Given the description of an element on the screen output the (x, y) to click on. 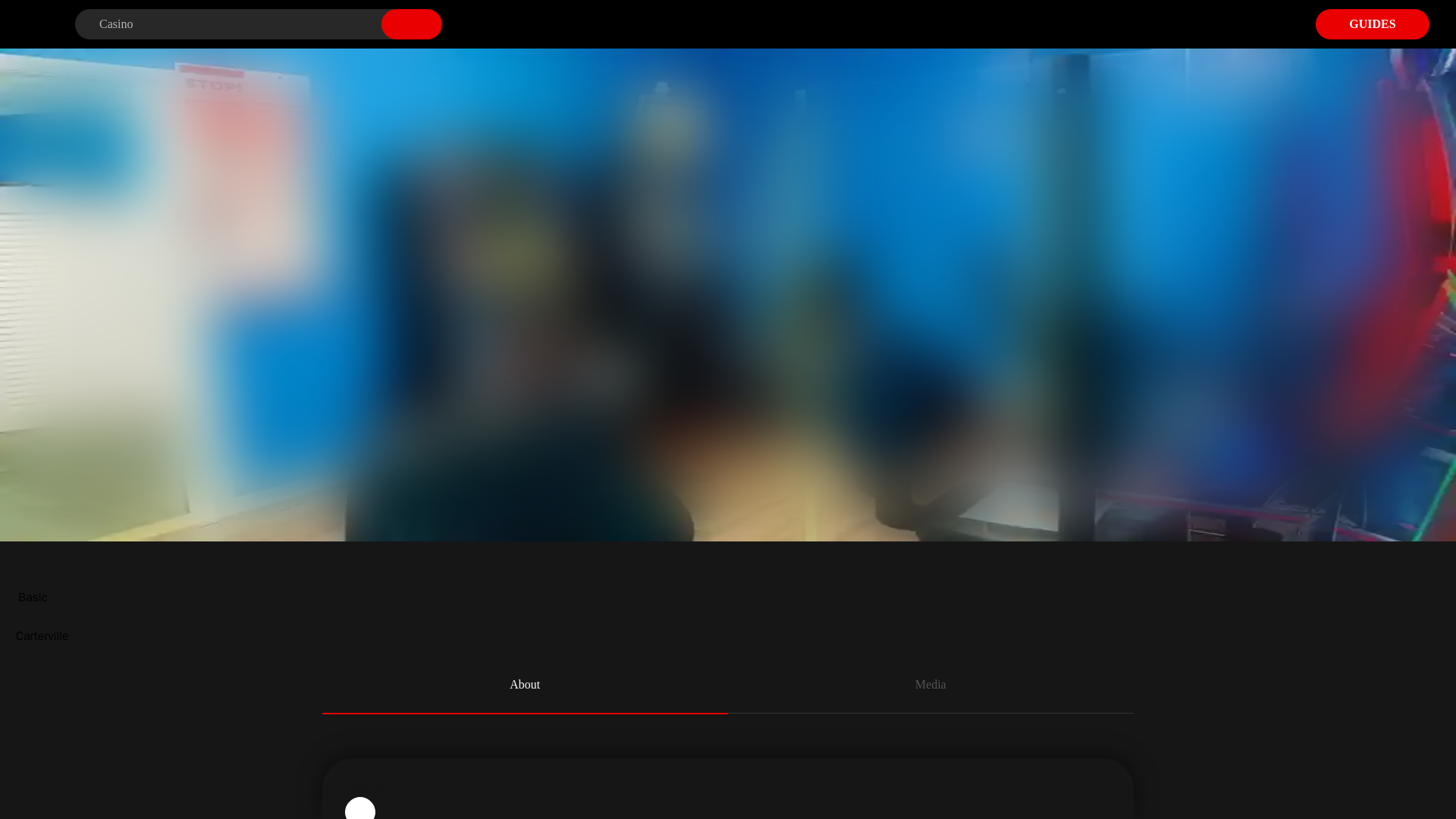
GUIDES (1372, 24)
Media (931, 686)
About (524, 686)
